Given the description of an element on the screen output the (x, y) to click on. 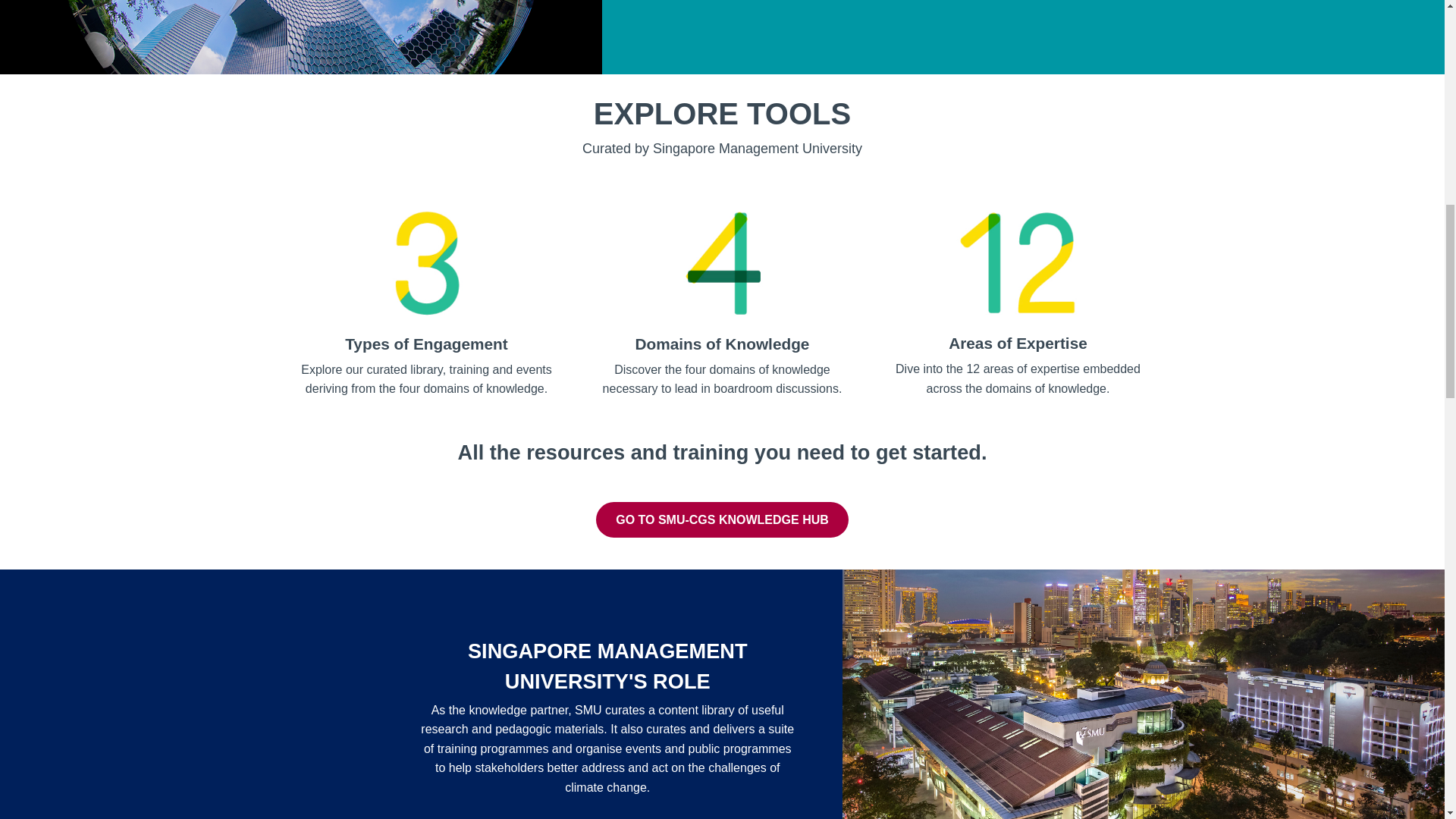
GO TO SMU-CGS KNOWLEDGE HUB (721, 520)
